Given the description of an element on the screen output the (x, y) to click on. 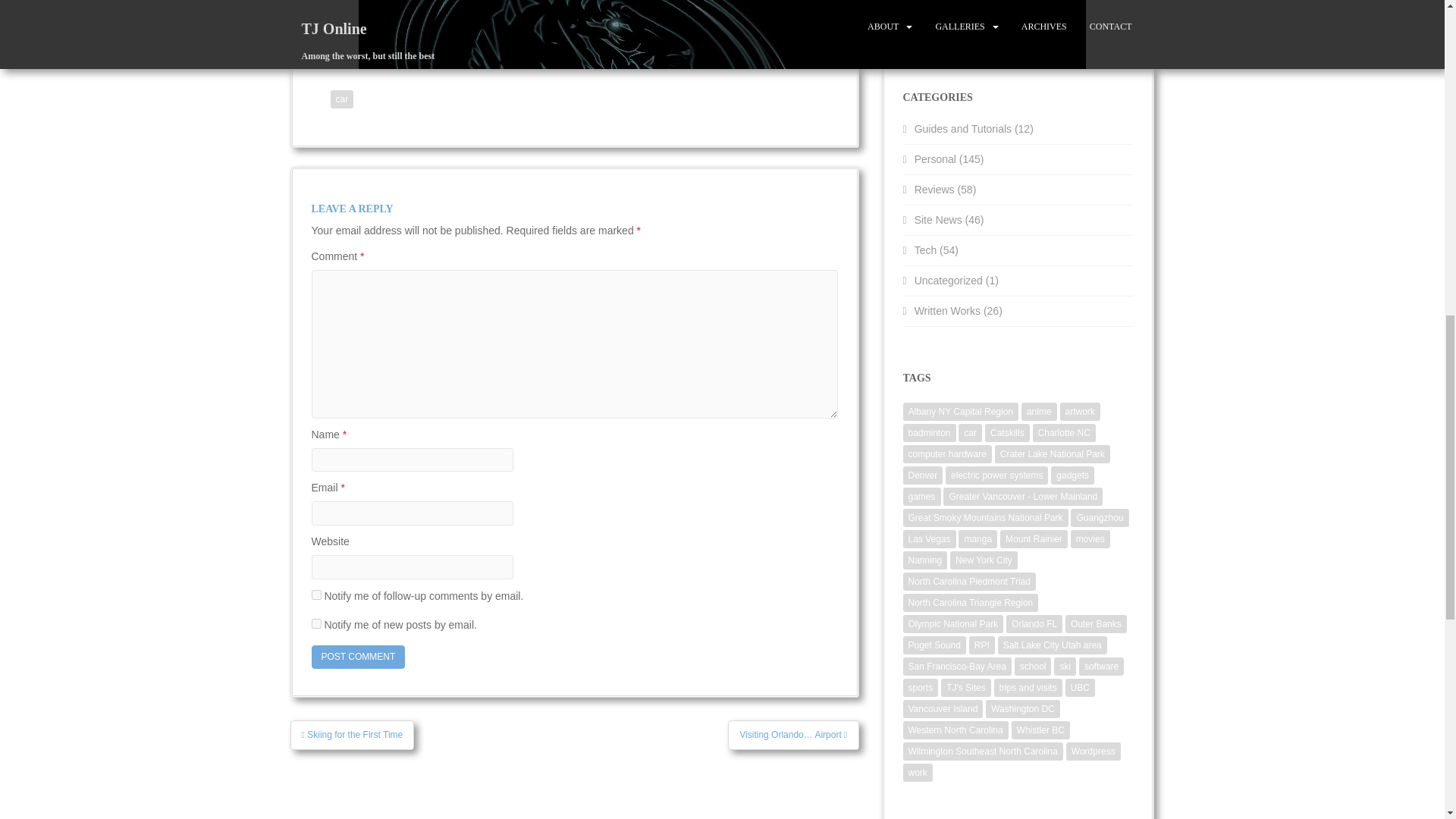
subscribe (315, 594)
Twitter (635, 39)
Click to share on Twitter (635, 39)
Click to print (421, 39)
Print (421, 39)
subscribe (315, 623)
Email (359, 39)
Click to email a link to a friend (359, 39)
car (341, 99)
Reddit (567, 39)
